Given the description of an element on the screen output the (x, y) to click on. 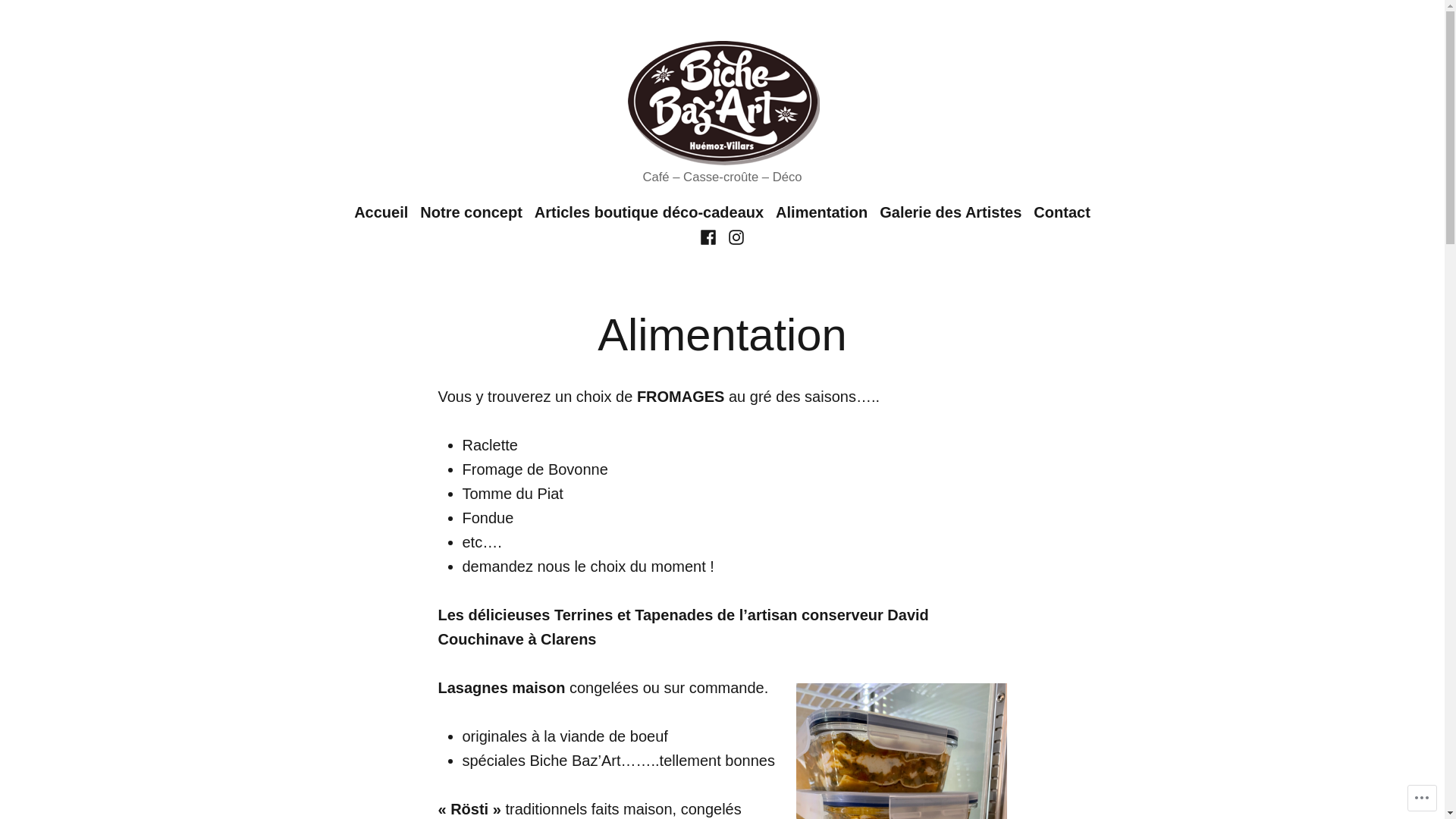
Accueil Element type: text (384, 211)
Notre concept Element type: text (470, 211)
Galerie des Artistes Element type: text (950, 211)
Alimentation Element type: text (821, 211)
Contact Element type: text (1058, 211)
